Given the description of an element on the screen output the (x, y) to click on. 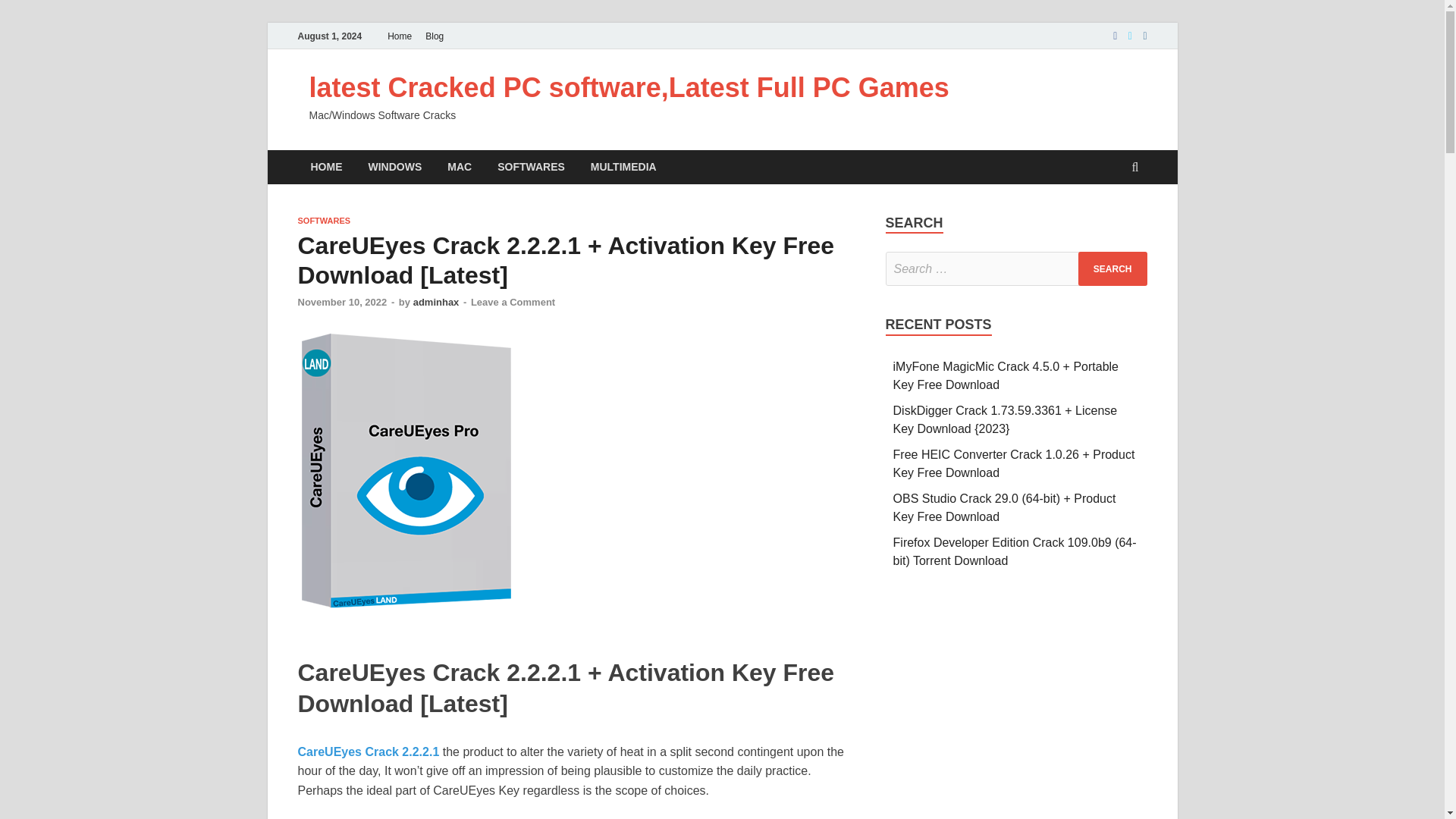
SOFTWARES (323, 220)
Leave a Comment (512, 301)
latest Cracked PC software,Latest Full PC Games (628, 87)
Search (1112, 268)
MULTIMEDIA (623, 166)
adminhax (436, 301)
Blog (434, 35)
SOFTWARES (531, 166)
MAC (458, 166)
November 10, 2022 (342, 301)
CareUEyes Crack 2.2.2.1 (368, 751)
Search (1112, 268)
WINDOWS (394, 166)
Home (399, 35)
HOME (326, 166)
